Given the description of an element on the screen output the (x, y) to click on. 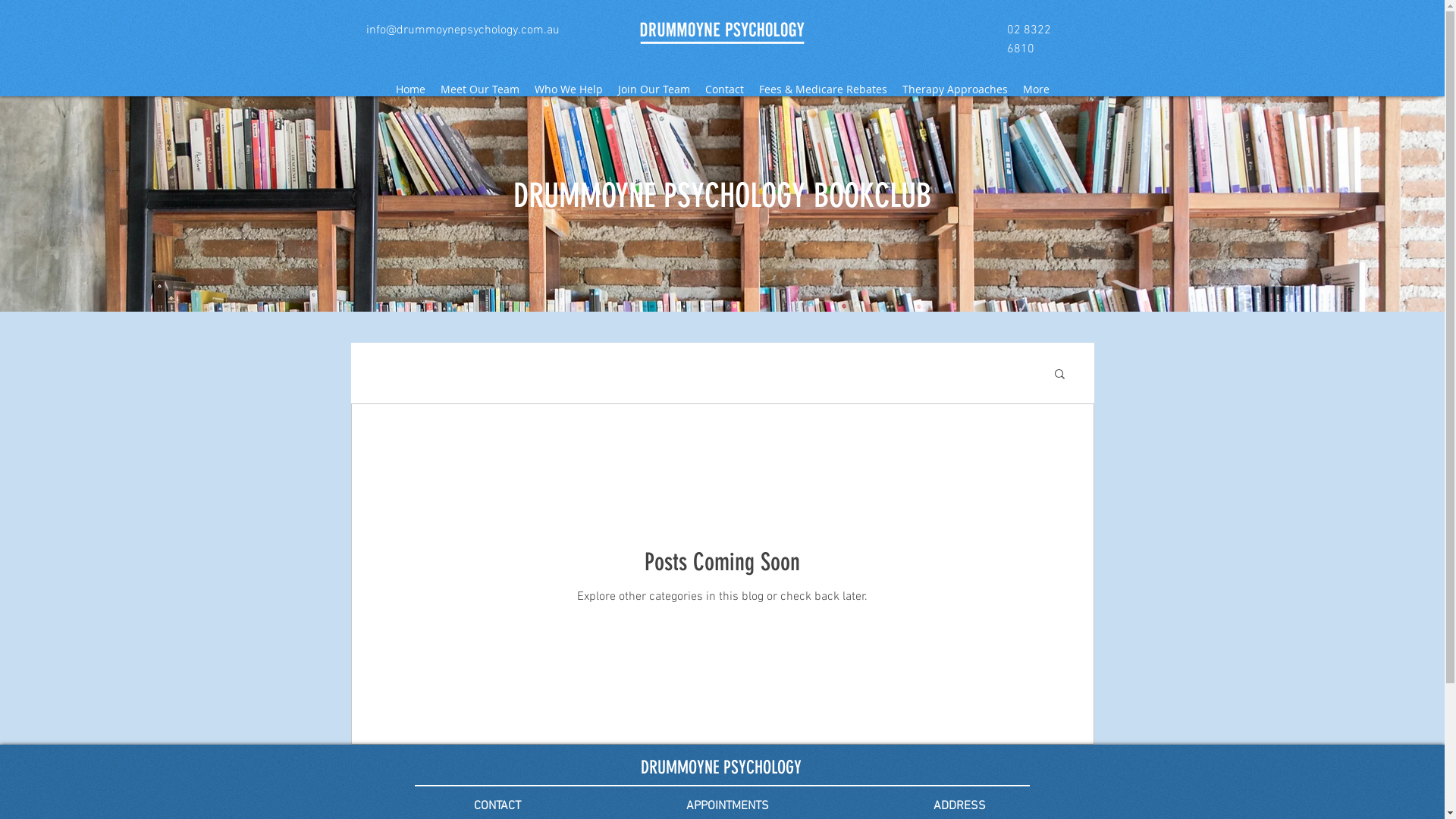
Home Element type: text (410, 89)
Who We Help Element type: text (567, 89)
02 8322 6810 Element type: text (1029, 39)
Meet Our Team Element type: text (479, 89)
Fees & Medicare Rebates Element type: text (822, 89)
info@drummoynepsychology.com.au Element type: text (461, 29)
Join Our Team Element type: text (652, 89)
Contact Element type: text (724, 89)
Therapy Approaches Element type: text (954, 89)
